Given the description of an element on the screen output the (x, y) to click on. 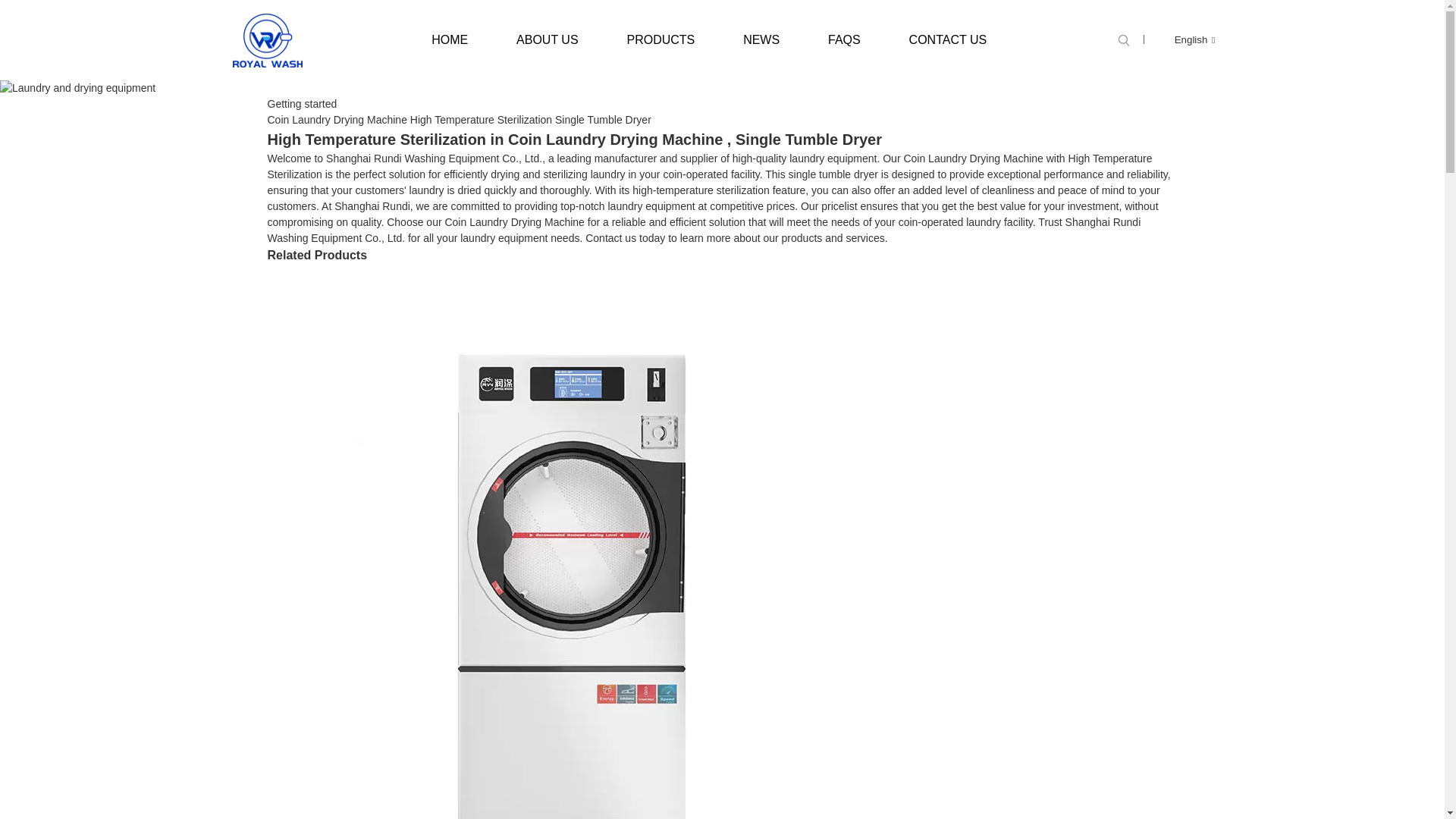
Getting started (301, 103)
PRODUCTS (660, 39)
HOME (449, 39)
English (1182, 39)
FAQS (844, 39)
ABOUT US (547, 39)
CONTACT US (948, 39)
NEWS (761, 39)
